Given the description of an element on the screen output the (x, y) to click on. 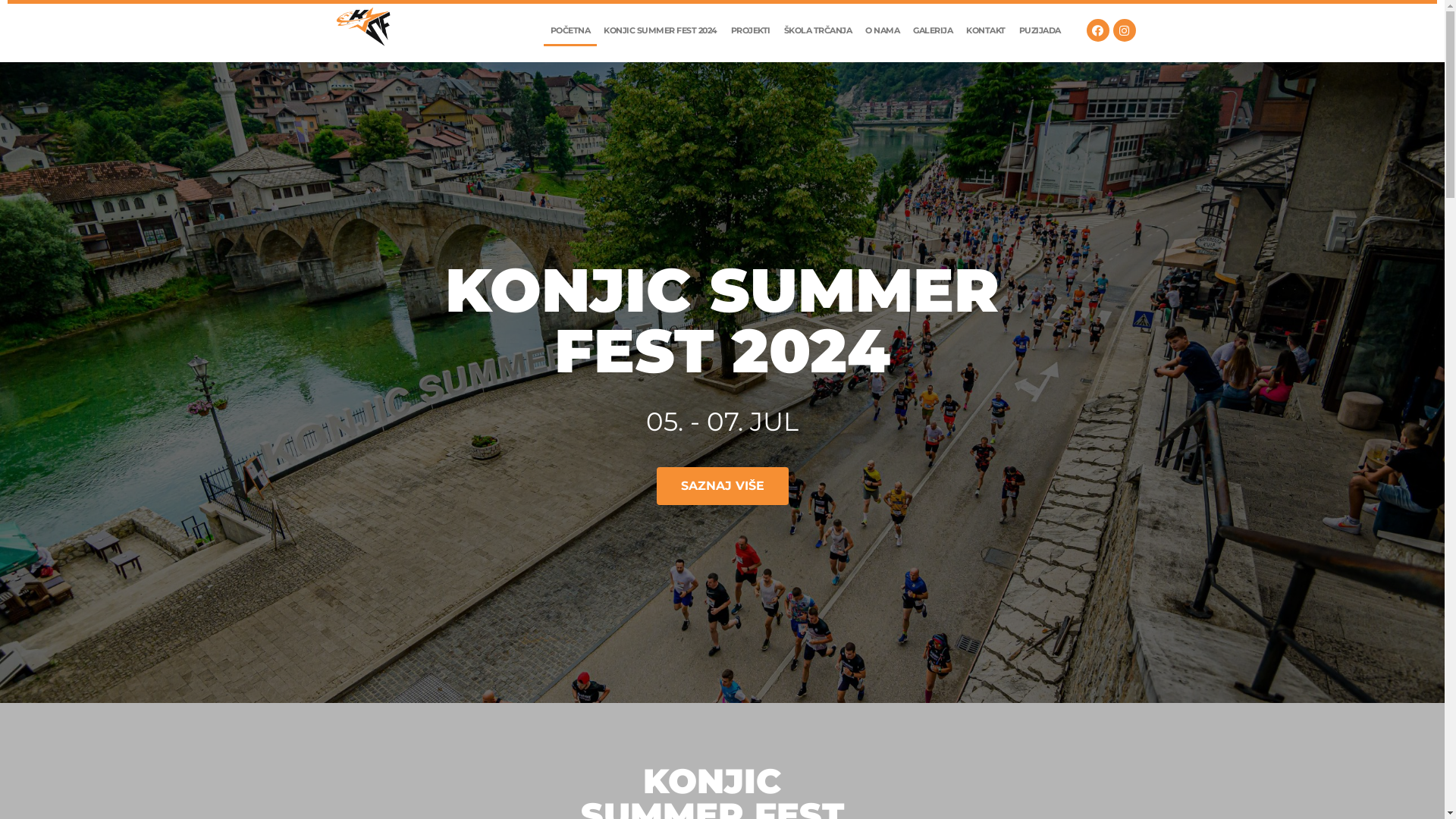
KONJIC SUMMER FEST 2024 Element type: text (660, 30)
PROJEKTI Element type: text (750, 30)
PUZIJADA Element type: text (1039, 30)
O NAMA Element type: text (882, 30)
KONTAKT Element type: text (985, 30)
GALERIJA Element type: text (932, 30)
